Given the description of an element on the screen output the (x, y) to click on. 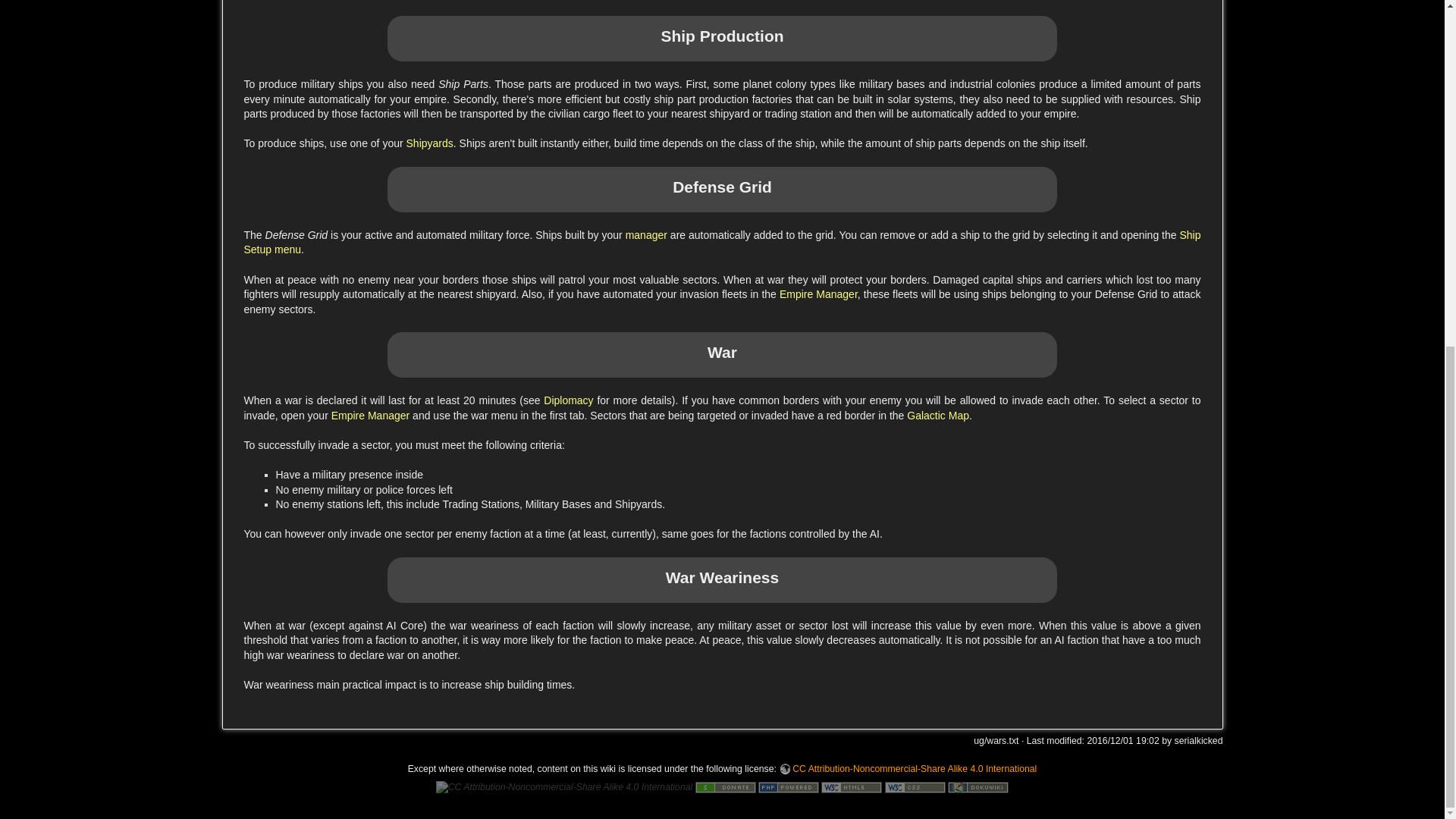
ug:shipyard (429, 143)
Ship Setup menu (722, 242)
Empire Manager (370, 415)
Diplomacy (567, 399)
Empire Manager (817, 294)
Shipyards (429, 143)
Galactic Map (938, 415)
CC Attribution-Noncommercial-Share Alike 4.0 International (907, 768)
manager (646, 234)
